Given the description of an element on the screen output the (x, y) to click on. 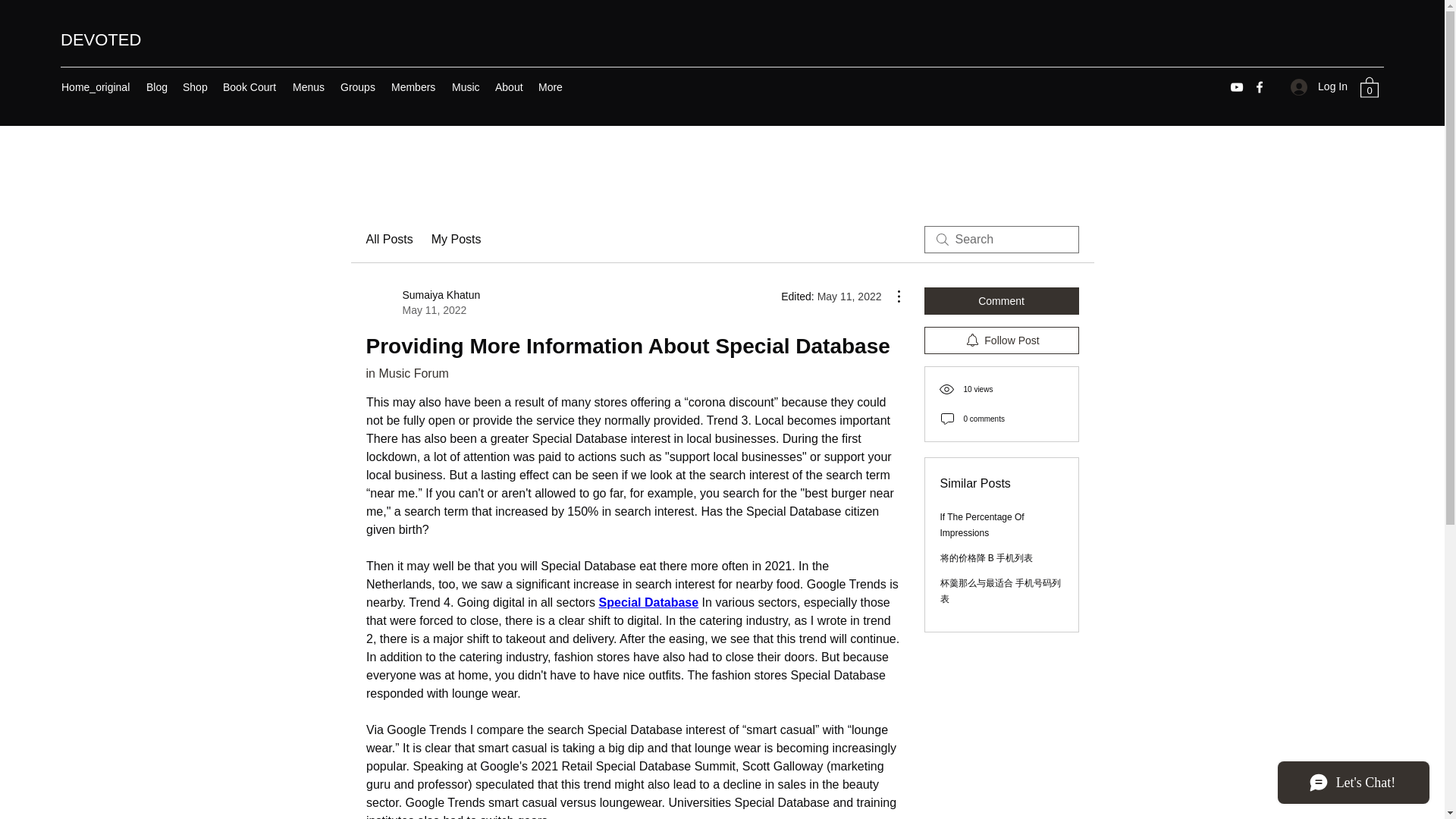
0 (1368, 86)
0 (1368, 86)
Blog (156, 87)
Log In (1318, 86)
Shop (194, 87)
DEVOTED (101, 39)
My Posts (455, 239)
Book Court (422, 302)
Comment (250, 87)
Members (1000, 300)
If The Percentage Of Impressions (414, 87)
About (982, 524)
All Posts (509, 87)
Special Database (388, 239)
